Given the description of an element on the screen output the (x, y) to click on. 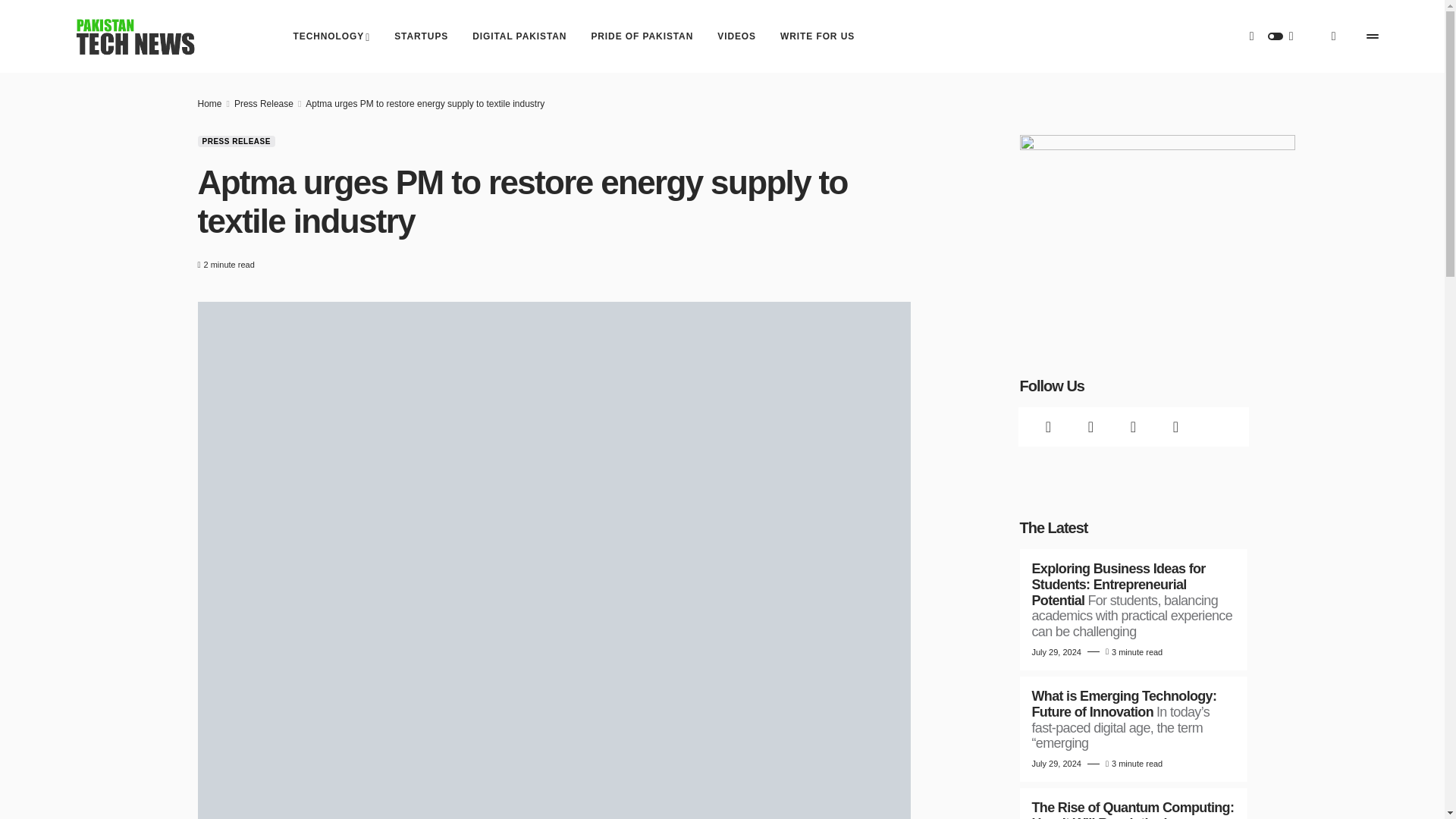
TECHNOLOGY (332, 36)
